Given the description of an element on the screen output the (x, y) to click on. 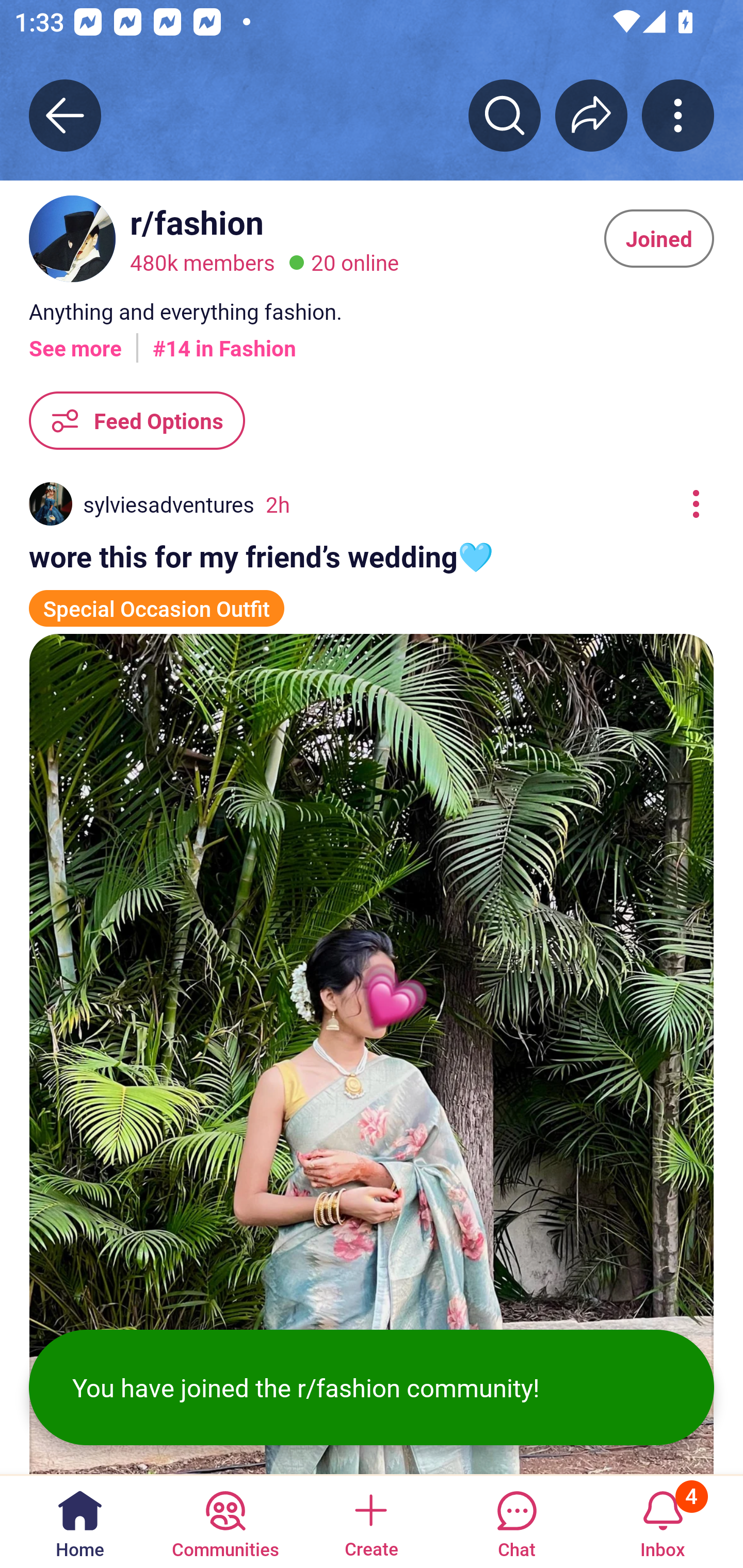
Back (64, 115)
Search r/﻿fashion (504, 115)
Share r/﻿fashion (591, 115)
#14 in Fashion (224, 340)
Feed Options (136, 420)
Special Occasion Outfit (156, 599)
Home (80, 1520)
Communities (225, 1520)
Create a post Create (370, 1520)
Chat (516, 1520)
Inbox, has 4 notifications 4 Inbox (662, 1520)
